Given the description of an element on the screen output the (x, y) to click on. 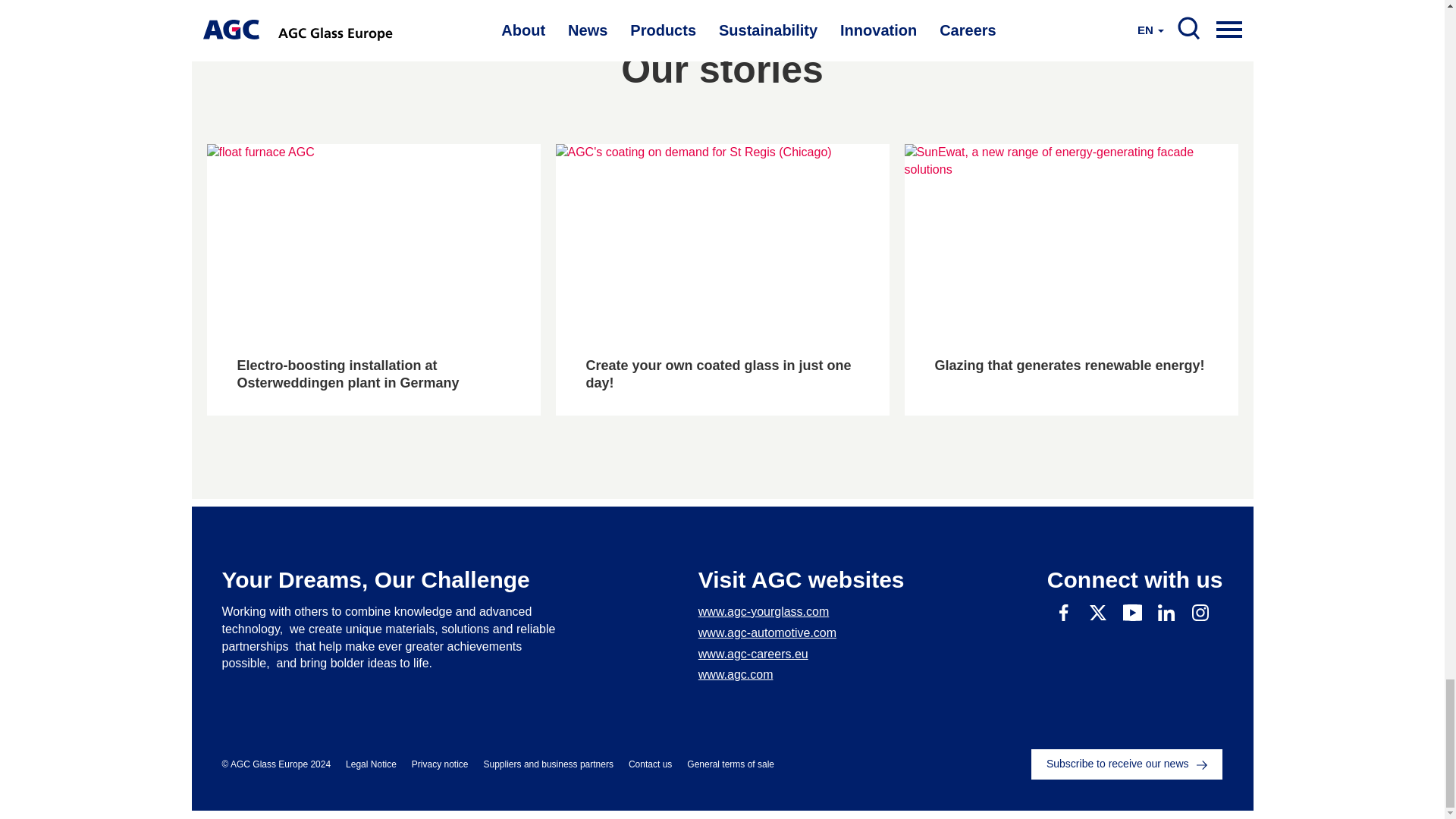
www.agc-automotive.com (801, 633)
www.agc-yourglass.com (801, 611)
www.agc.com (801, 674)
